Given the description of an element on the screen output the (x, y) to click on. 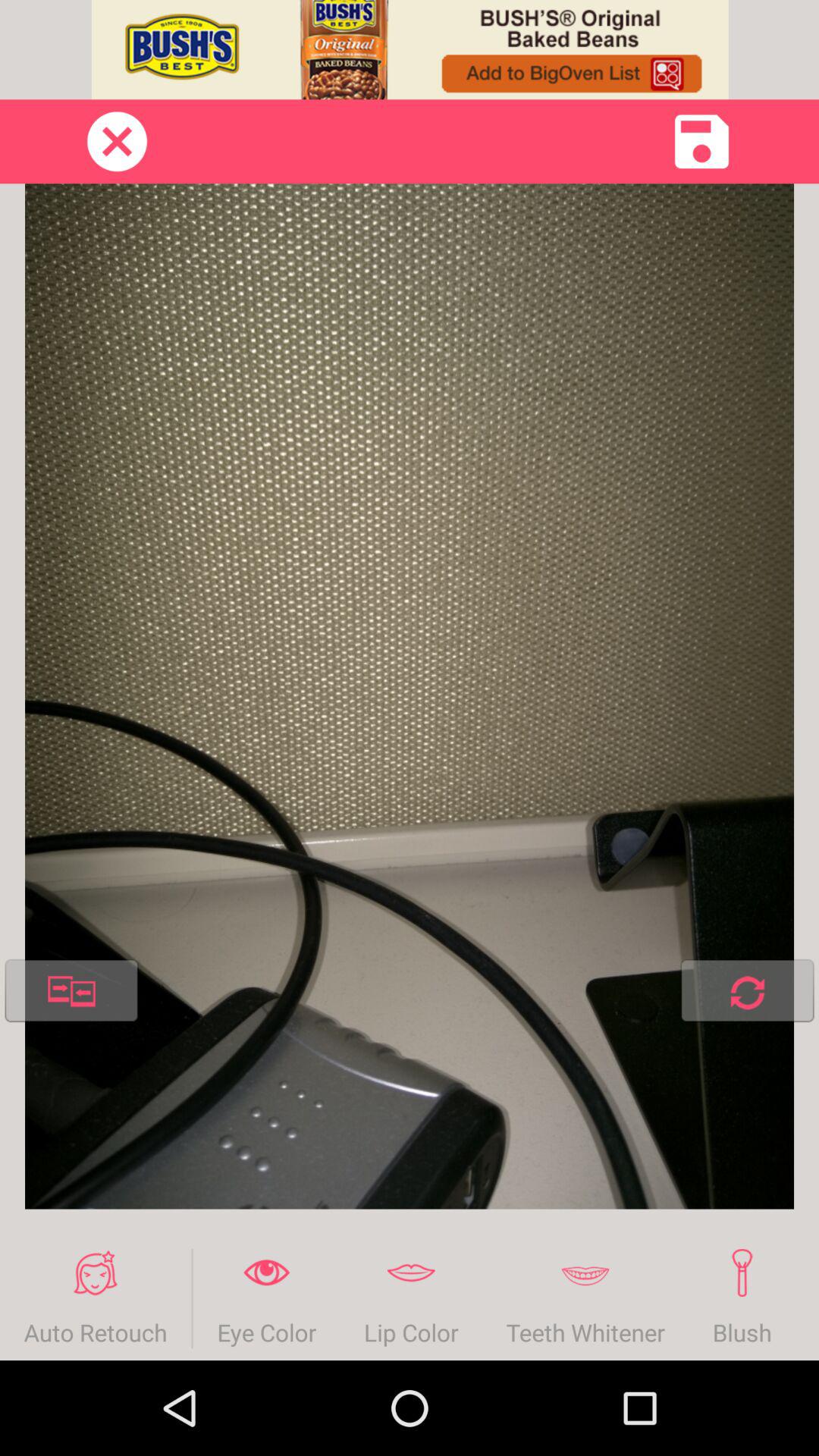
close (116, 141)
